Given the description of an element on the screen output the (x, y) to click on. 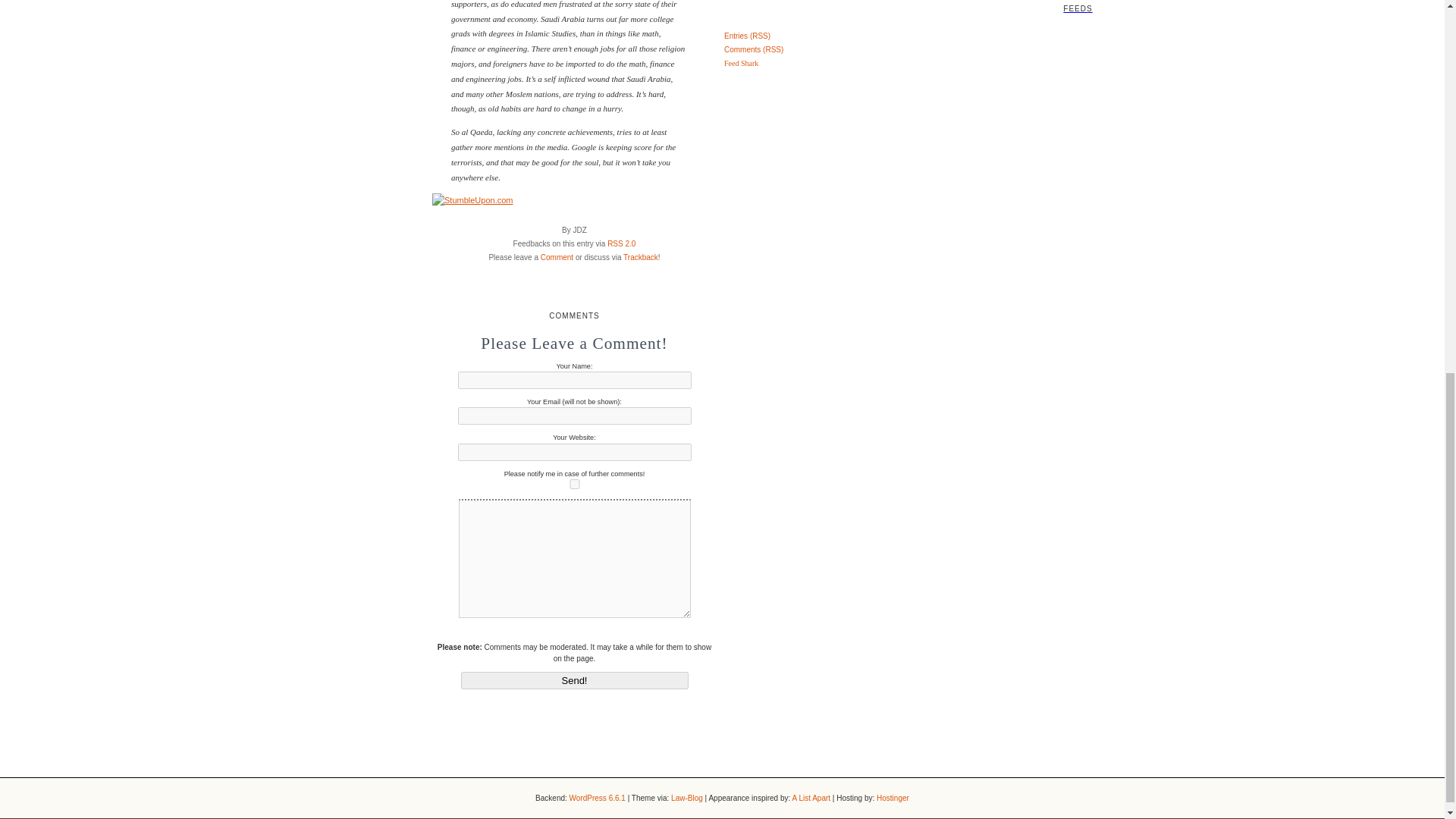
RSS 2.0 (620, 243)
A List Apart (810, 797)
Comment (556, 257)
Law-Blog (687, 797)
WordPress 6.6.1 (597, 797)
Trackback (640, 257)
Feed Shark (740, 62)
subscribe (574, 483)
Send! (574, 680)
